Given the description of an element on the screen output the (x, y) to click on. 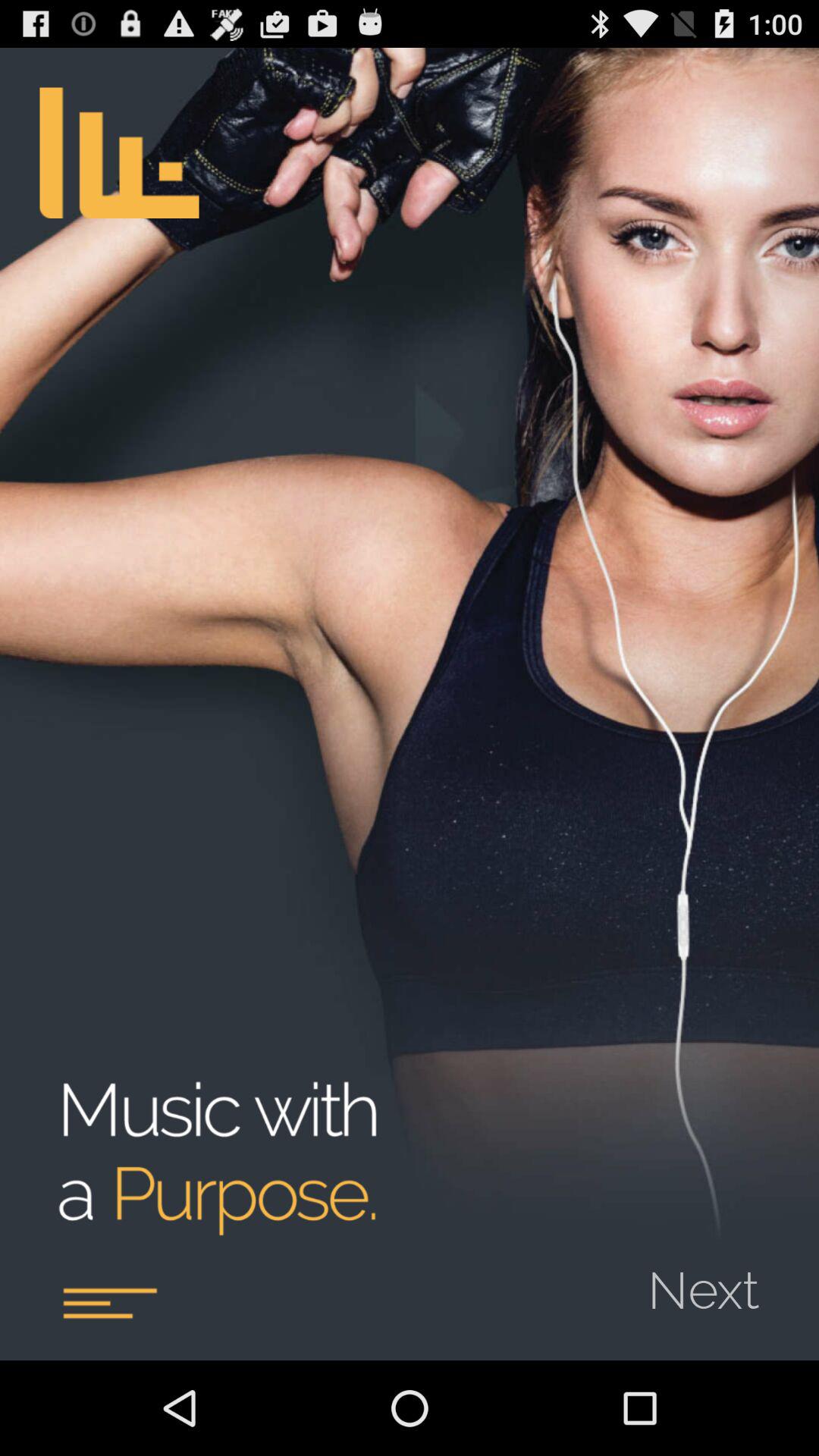
article content (109, 1302)
